Given the description of an element on the screen output the (x, y) to click on. 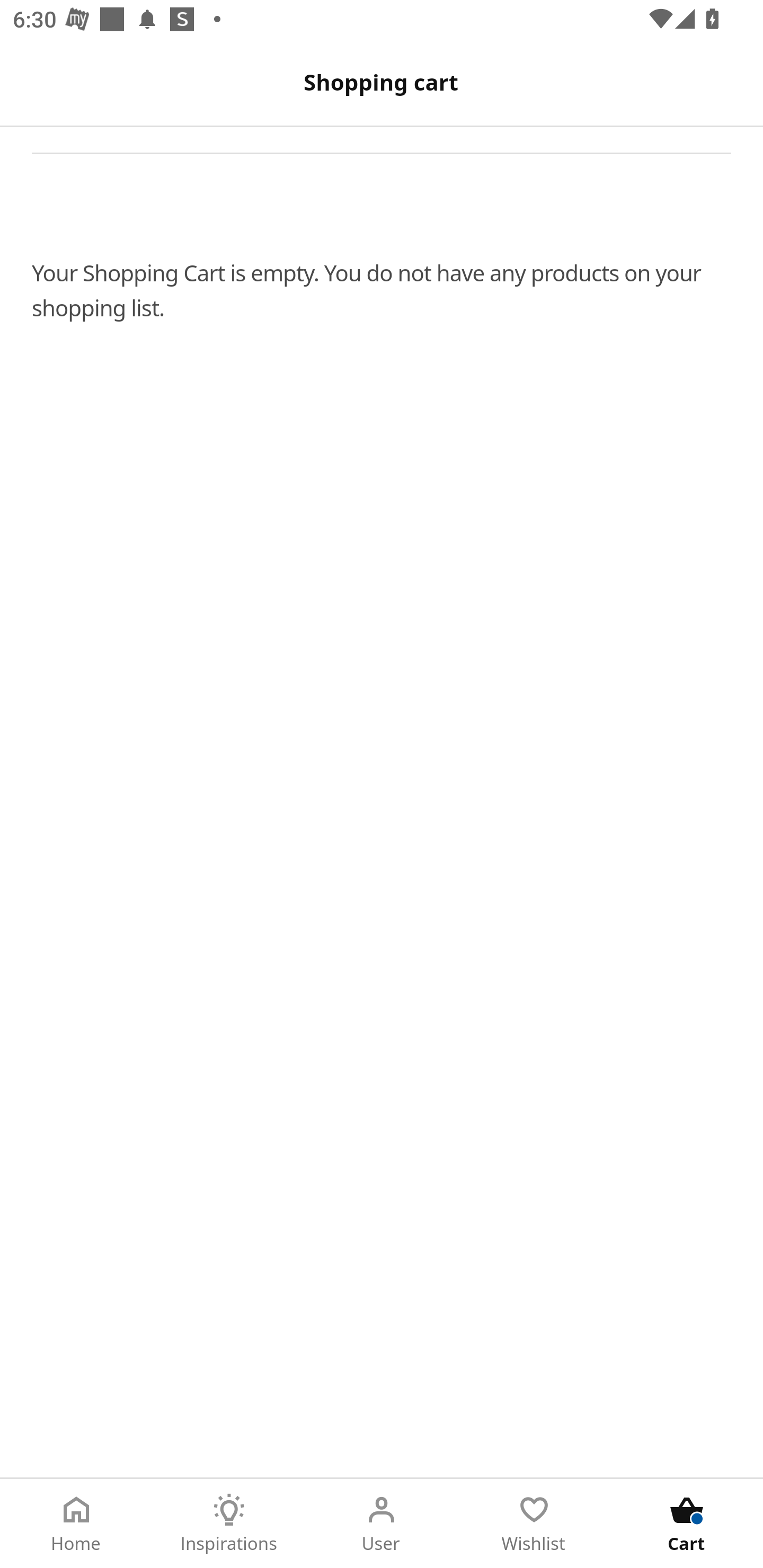
Home
Tab 1 of 5 (76, 1522)
Inspirations
Tab 2 of 5 (228, 1522)
User
Tab 3 of 5 (381, 1522)
Wishlist
Tab 4 of 5 (533, 1522)
Cart
Tab 5 of 5 (686, 1522)
